Given the description of an element on the screen output the (x, y) to click on. 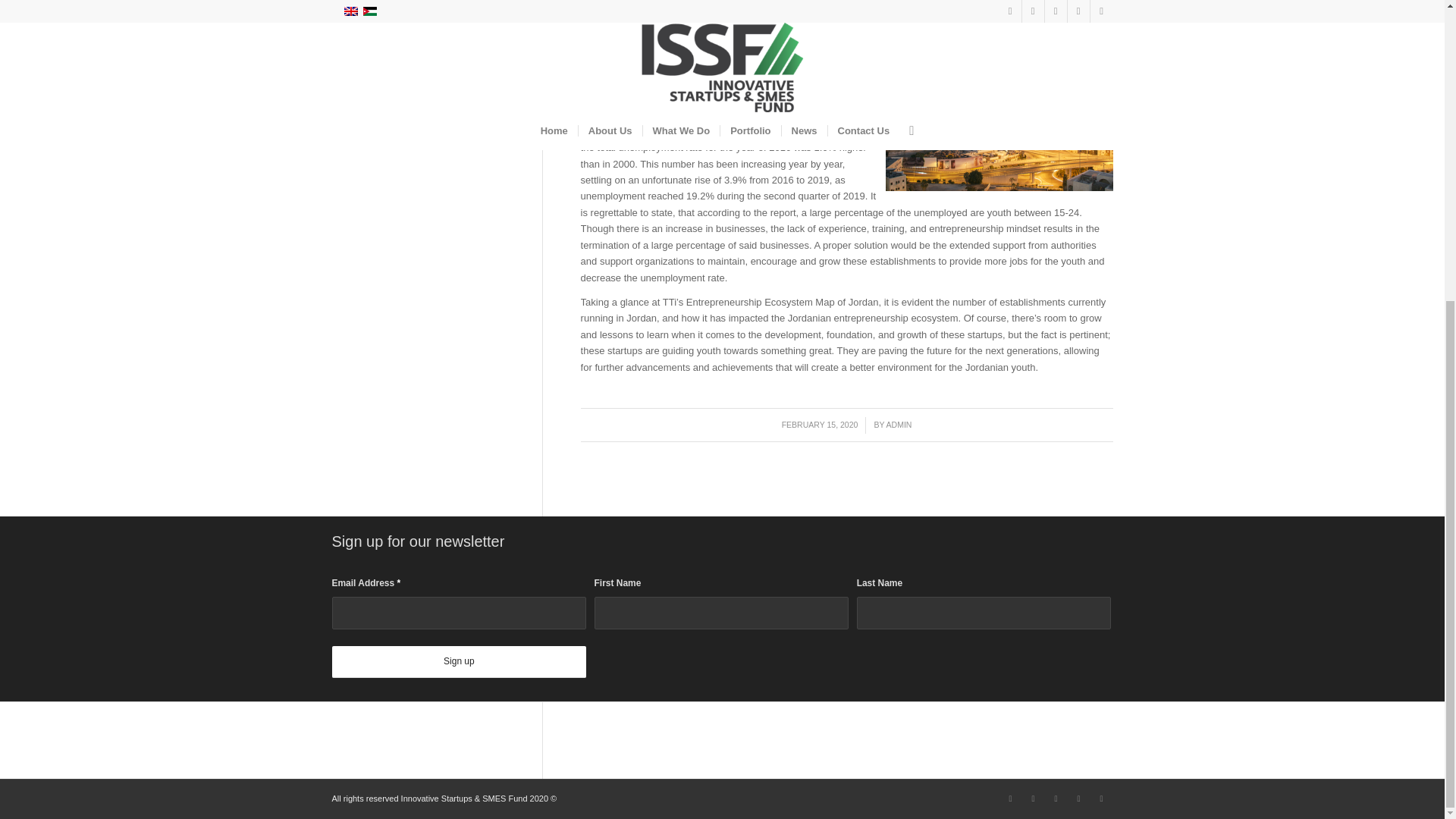
Sign up (458, 662)
